Given the description of an element on the screen output the (x, y) to click on. 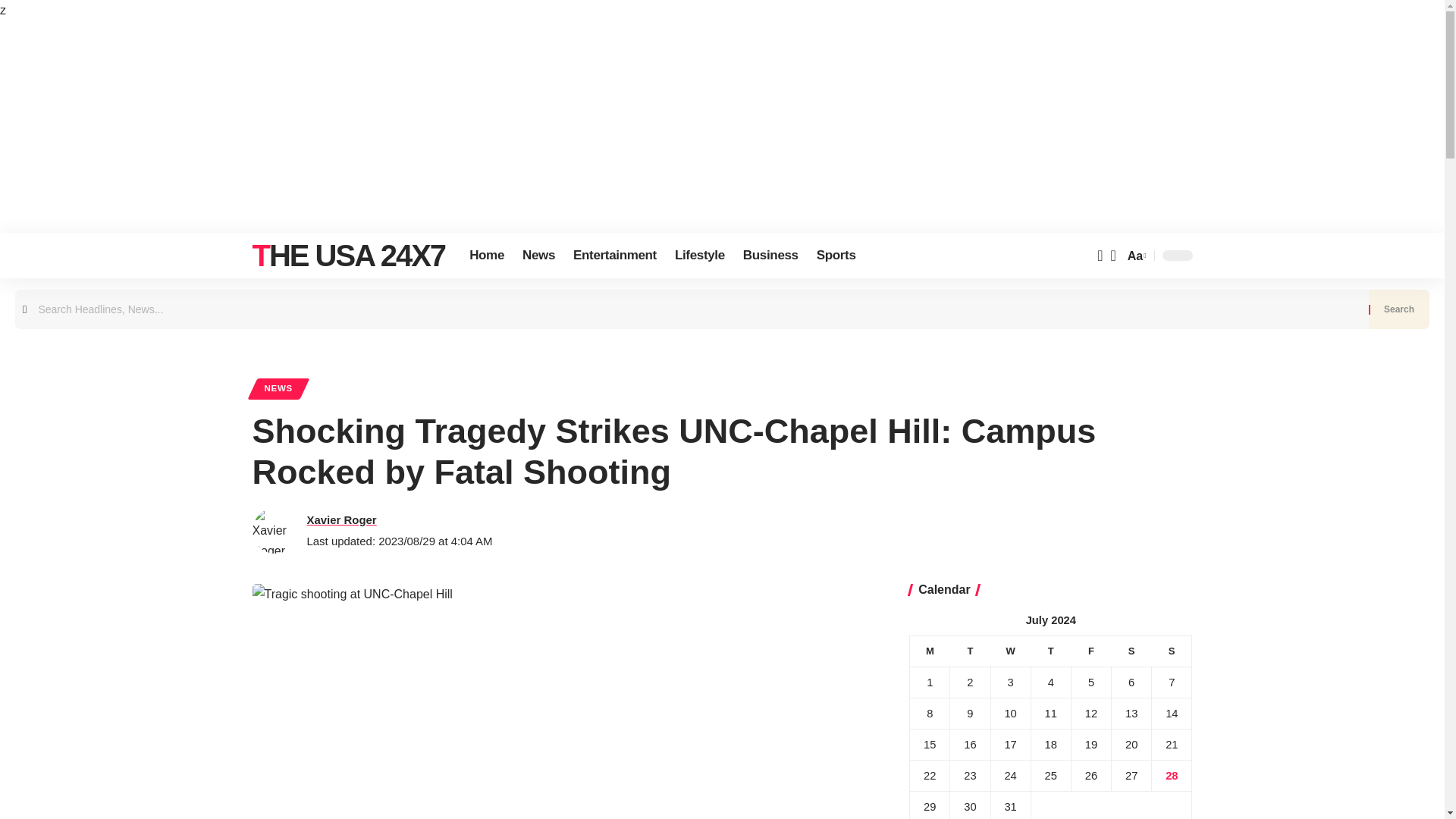
NEWS (277, 388)
Business (770, 255)
News (538, 255)
Aa (1135, 255)
Search (1398, 309)
Entertainment (614, 255)
Home (486, 255)
THE USA 24X7 (348, 255)
THE USA 24X7 (348, 255)
Sports (836, 255)
Lifestyle (699, 255)
Search (1398, 309)
Xavier Roger (340, 519)
Search (1398, 309)
